Given the description of an element on the screen output the (x, y) to click on. 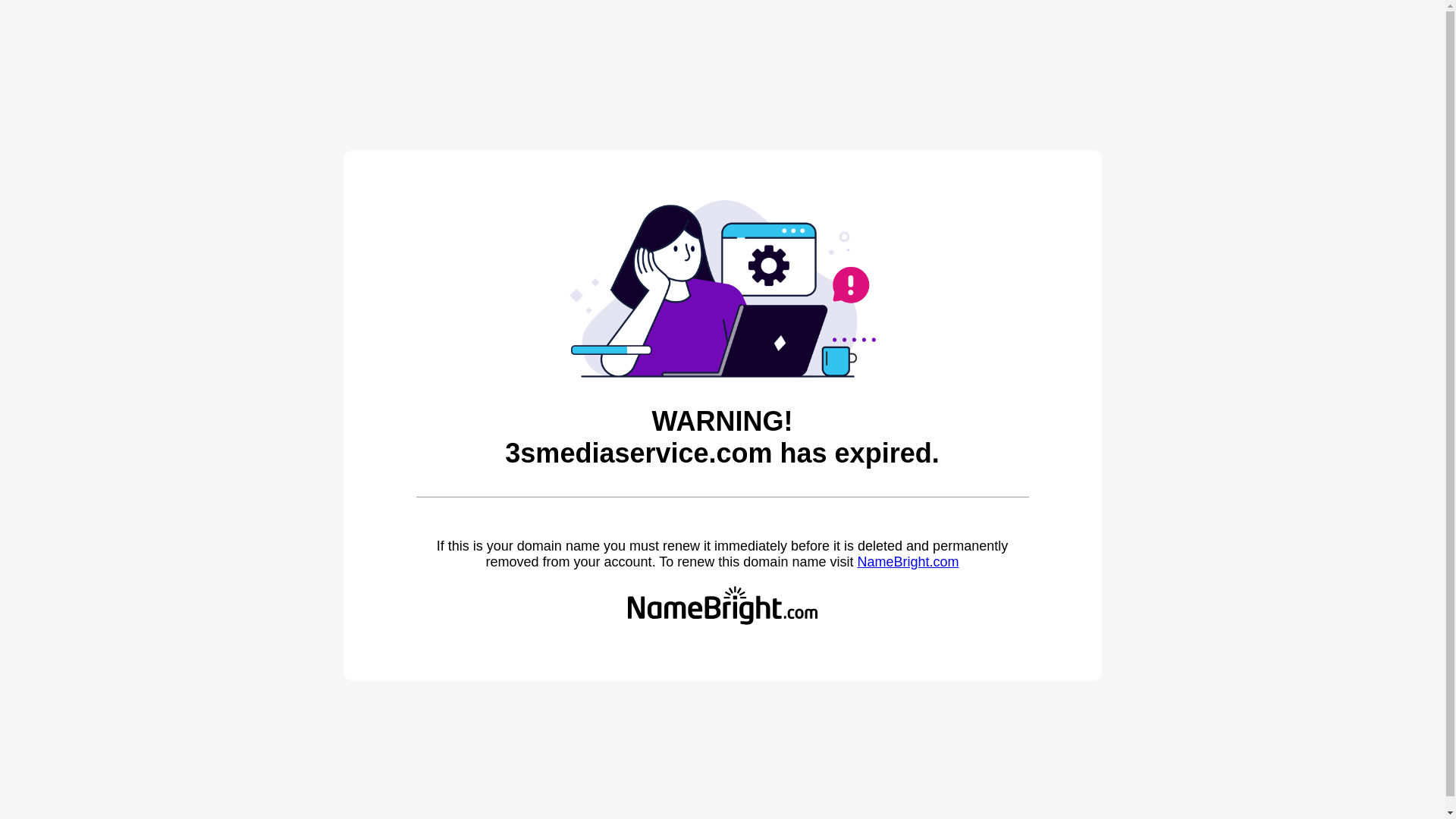
NameBright.com Element type: text (907, 561)
